Given the description of an element on the screen output the (x, y) to click on. 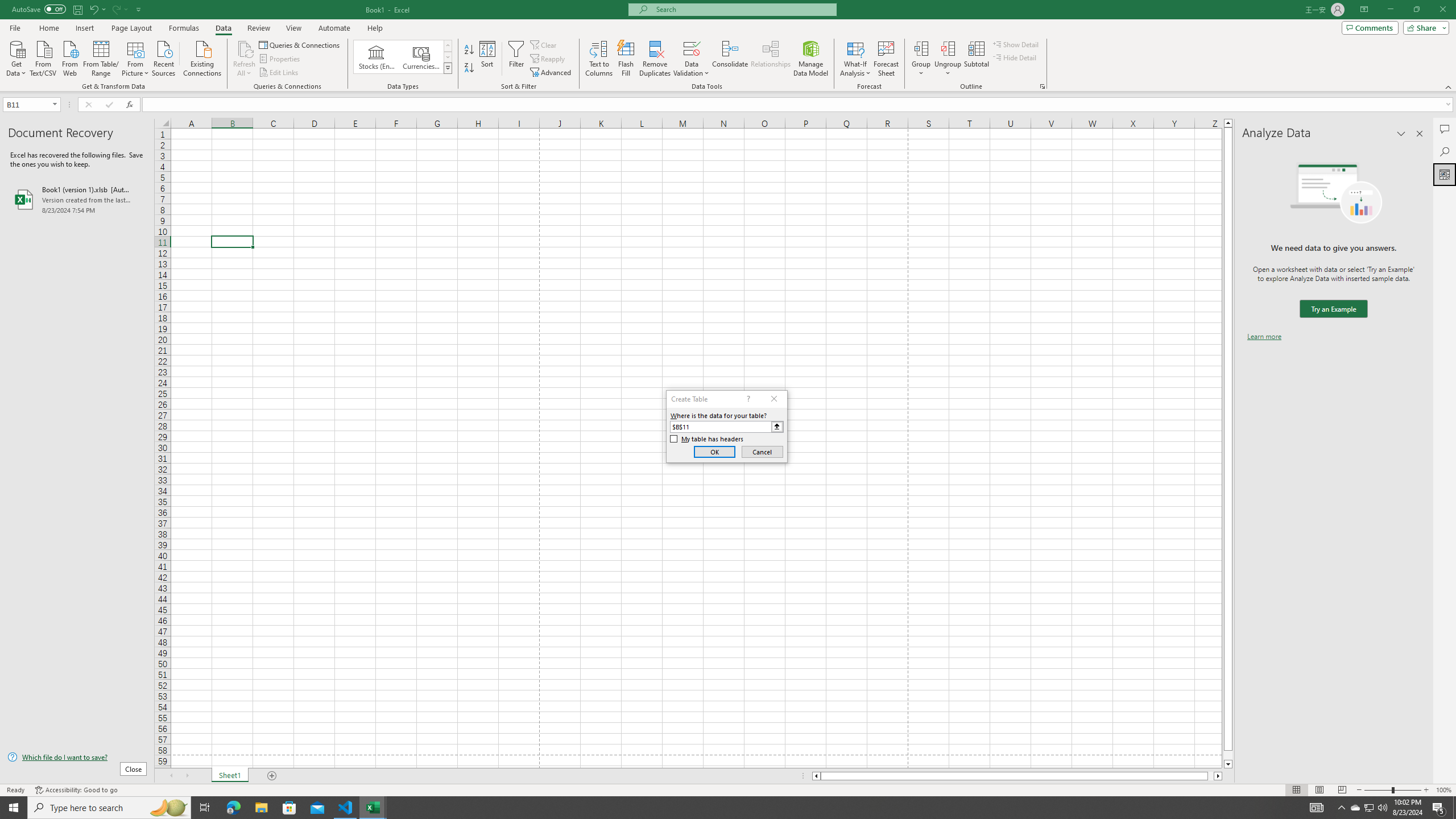
Consolidate... (729, 58)
